Given the description of an element on the screen output the (x, y) to click on. 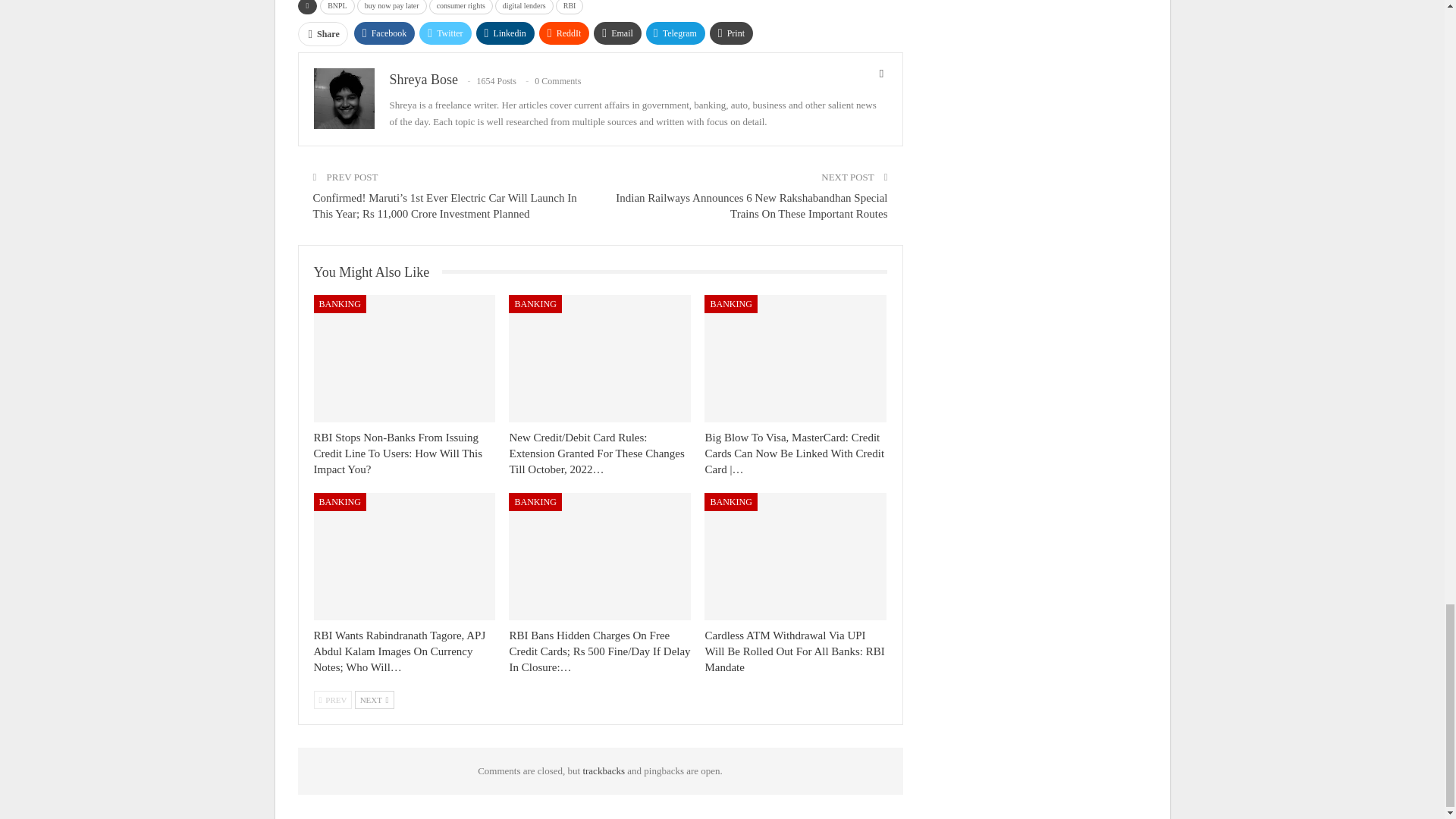
consumer rights (461, 7)
BNPL (337, 7)
RBI (569, 7)
buy now pay later (391, 7)
Facebook (383, 33)
digital lenders (524, 7)
